Given the description of an element on the screen output the (x, y) to click on. 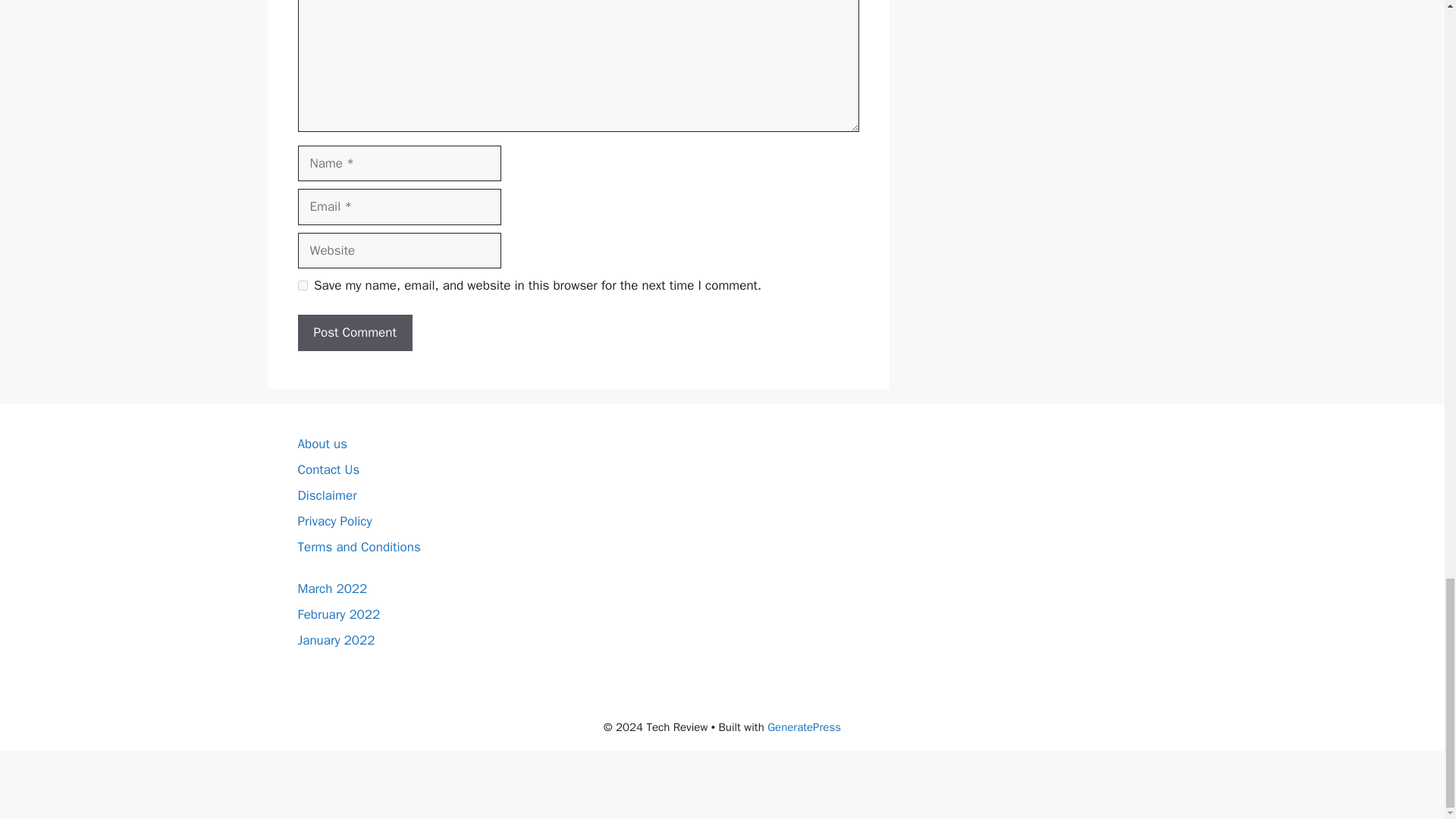
Post Comment (354, 332)
Privacy Policy (334, 521)
February 2022 (338, 614)
Contact Us (328, 469)
January 2022 (335, 640)
yes (302, 285)
Post Comment (354, 332)
Disclaimer (326, 495)
About us (322, 443)
March 2022 (331, 588)
Terms and Conditions (358, 546)
